Given the description of an element on the screen output the (x, y) to click on. 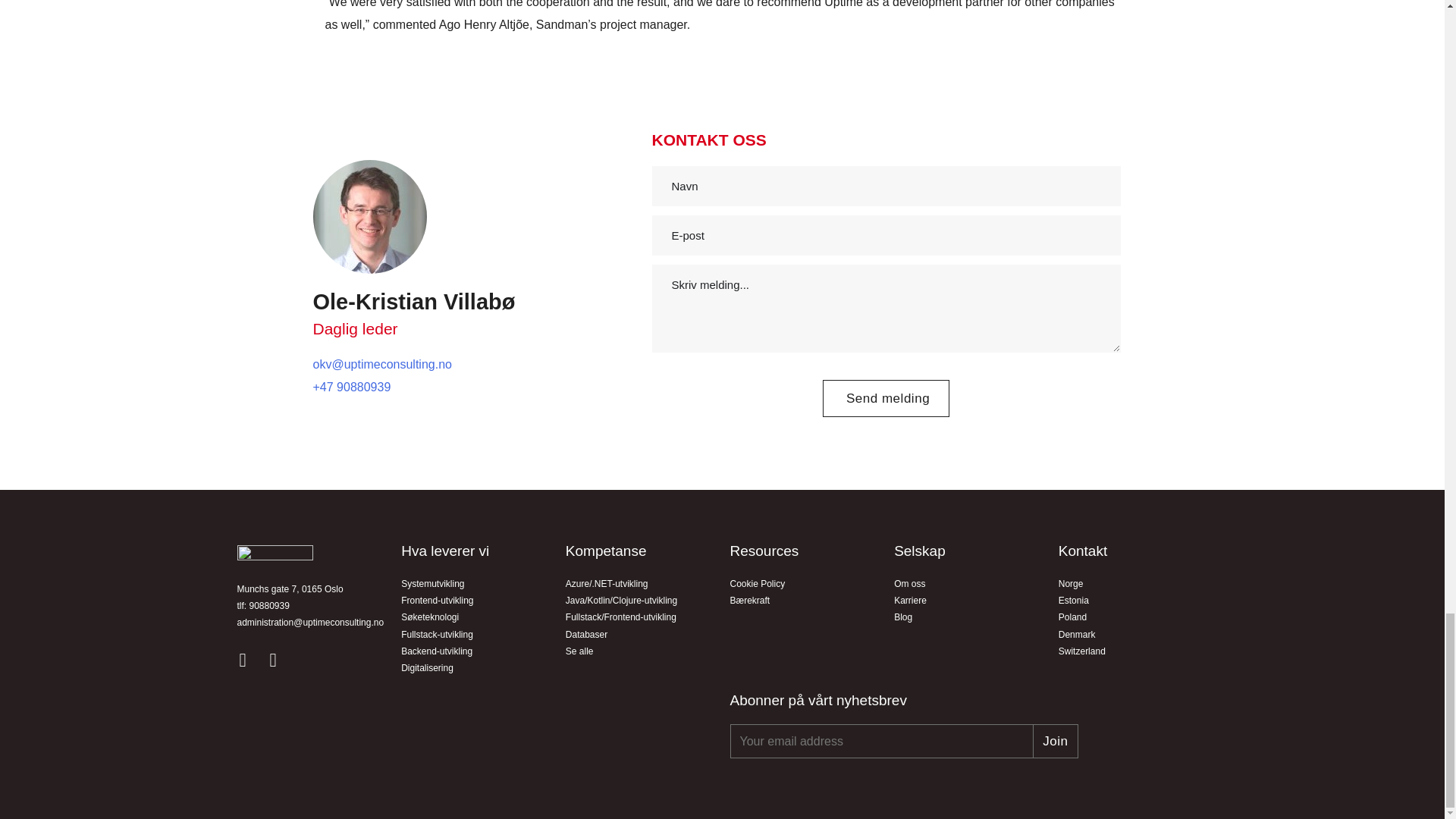
Join (1055, 740)
